Given the description of an element on the screen output the (x, y) to click on. 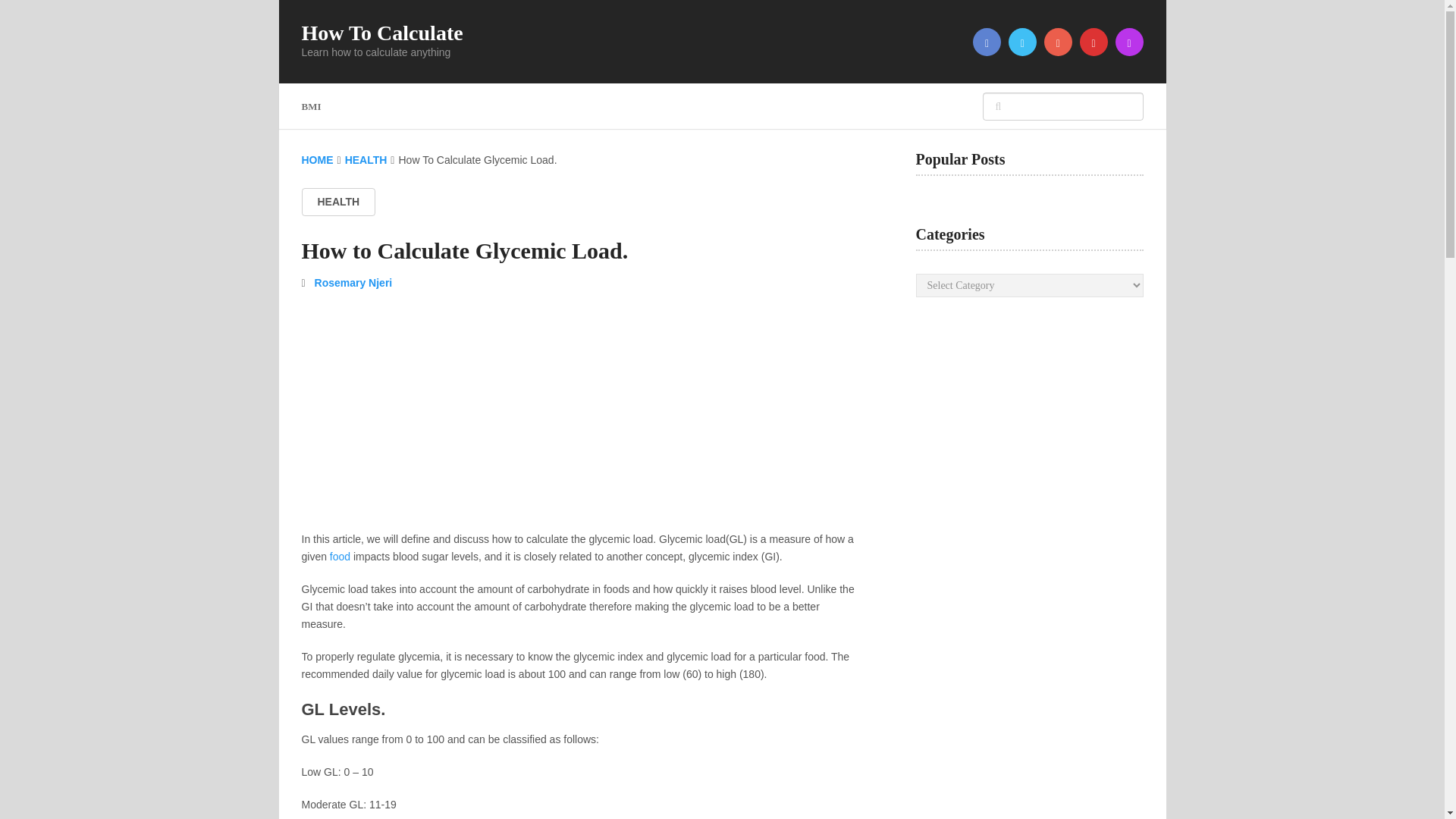
How To Calculate (382, 33)
View all posts in HEALTH (338, 202)
Posts by Rosemary Njeri (353, 282)
Advertisement (578, 417)
food (340, 556)
HEALTH (338, 202)
HEALTH (366, 159)
Rosemary Njeri (353, 282)
BMI (319, 105)
HOME (317, 159)
